Given the description of an element on the screen output the (x, y) to click on. 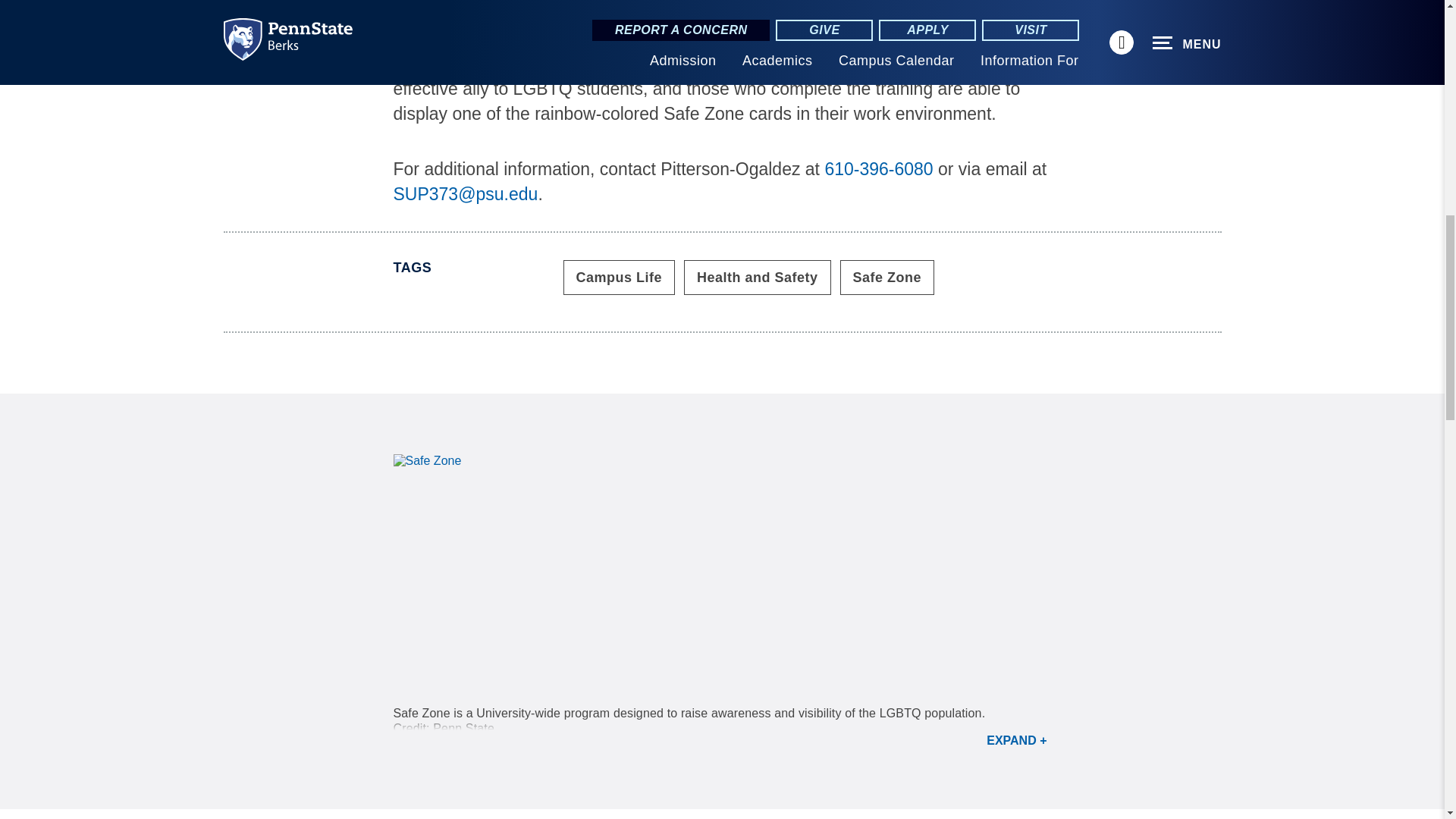
Content tagged with Safe Zone (887, 277)
Content tagged with Health and Safety (757, 277)
Content tagged with Campus Life (618, 277)
